Given the description of an element on the screen output the (x, y) to click on. 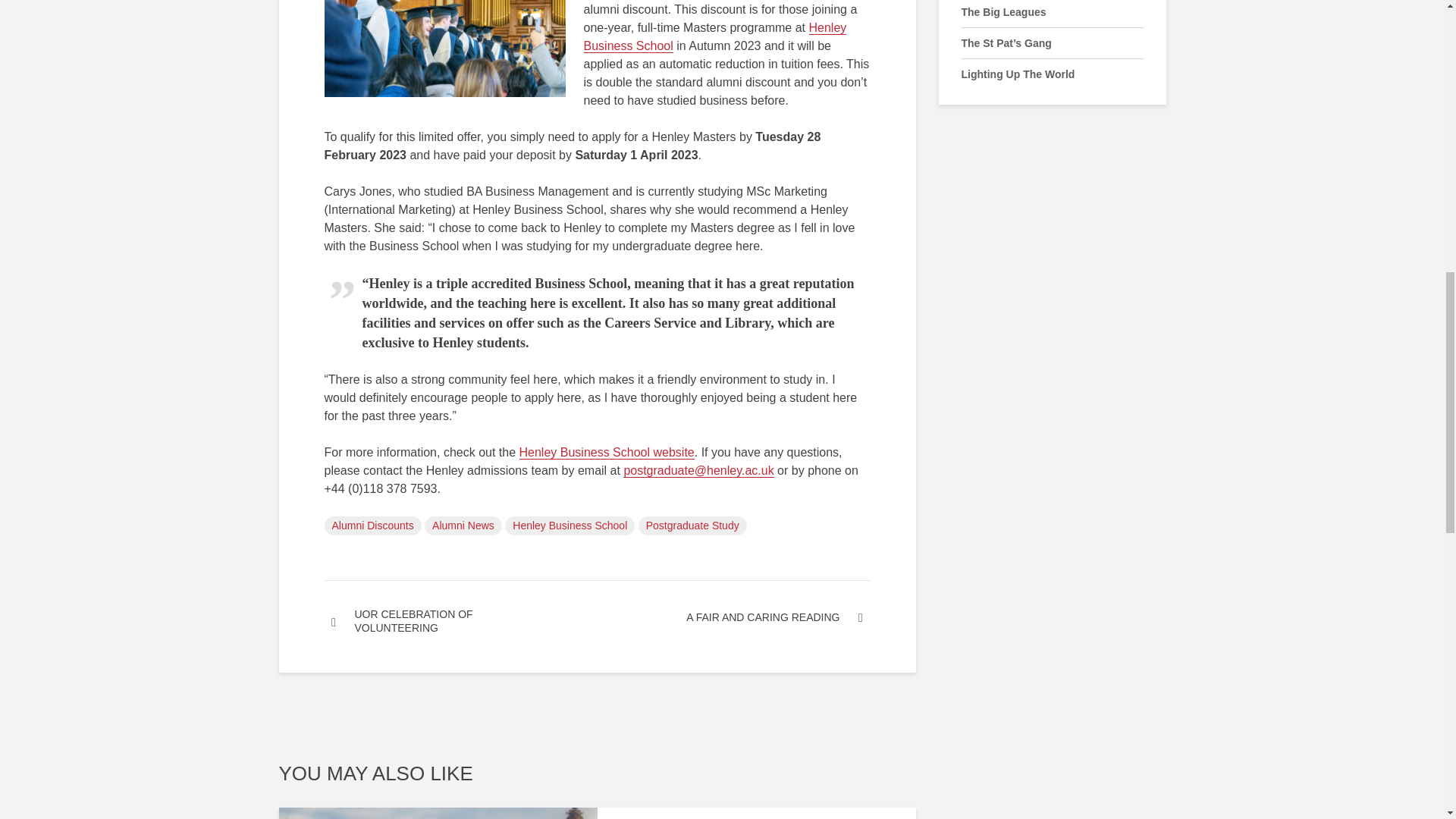
Lighting Up The World (1017, 73)
A FAIR AND CARING READING (733, 616)
UOR CELEBRATION OF VOLUNTEERING (460, 620)
Henley Business School (569, 525)
Henley Business School (715, 37)
The Big Leagues (1003, 11)
Henley Business School website (606, 452)
Alumni News (463, 525)
Postgraduate Study (692, 525)
Alumni Discounts (373, 525)
